Given the description of an element on the screen output the (x, y) to click on. 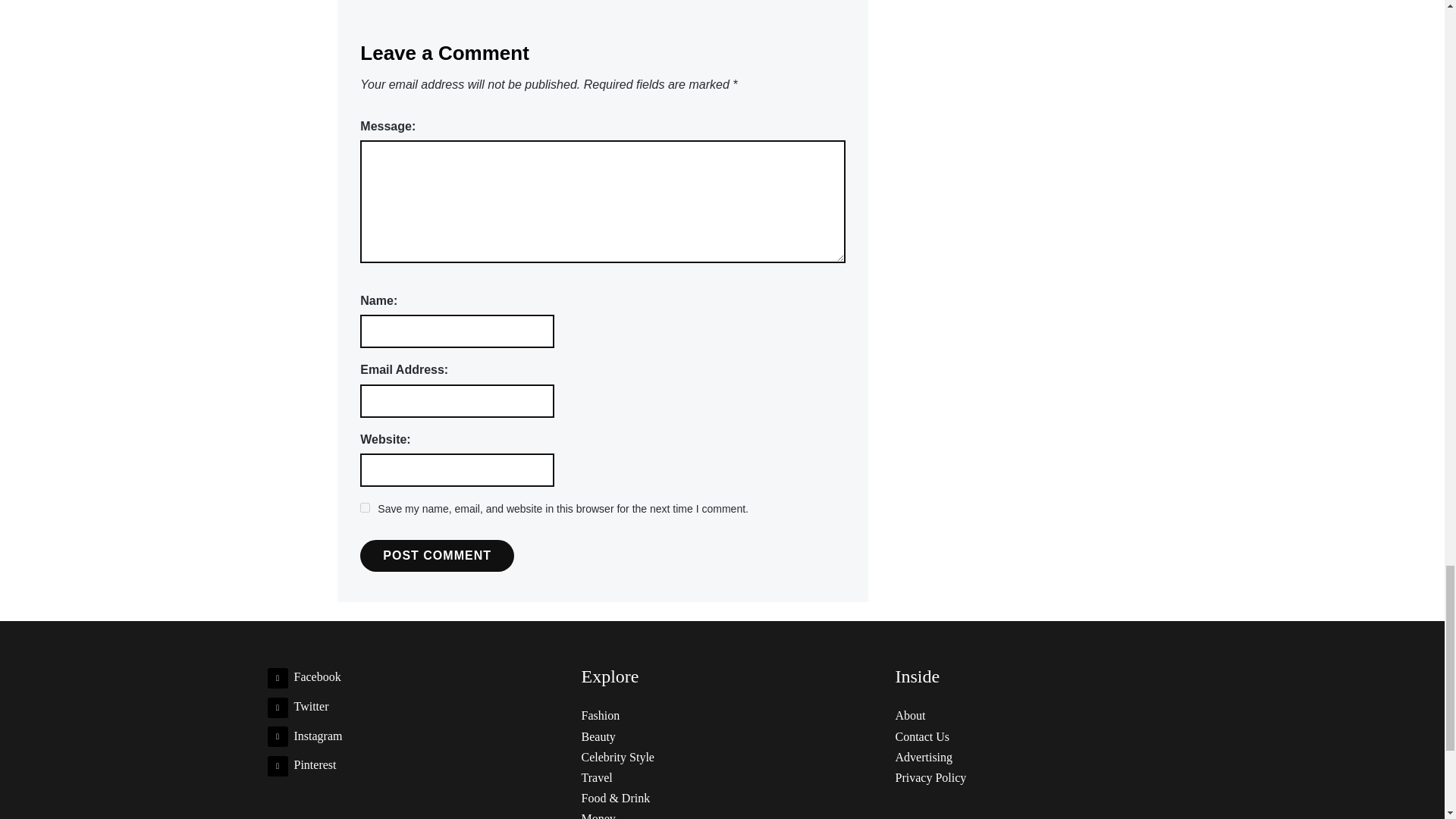
Post Comment (436, 555)
Facebook (303, 676)
Instagram (304, 735)
yes (364, 507)
Pinterest (301, 764)
Twitter (297, 706)
